Given the description of an element on the screen output the (x, y) to click on. 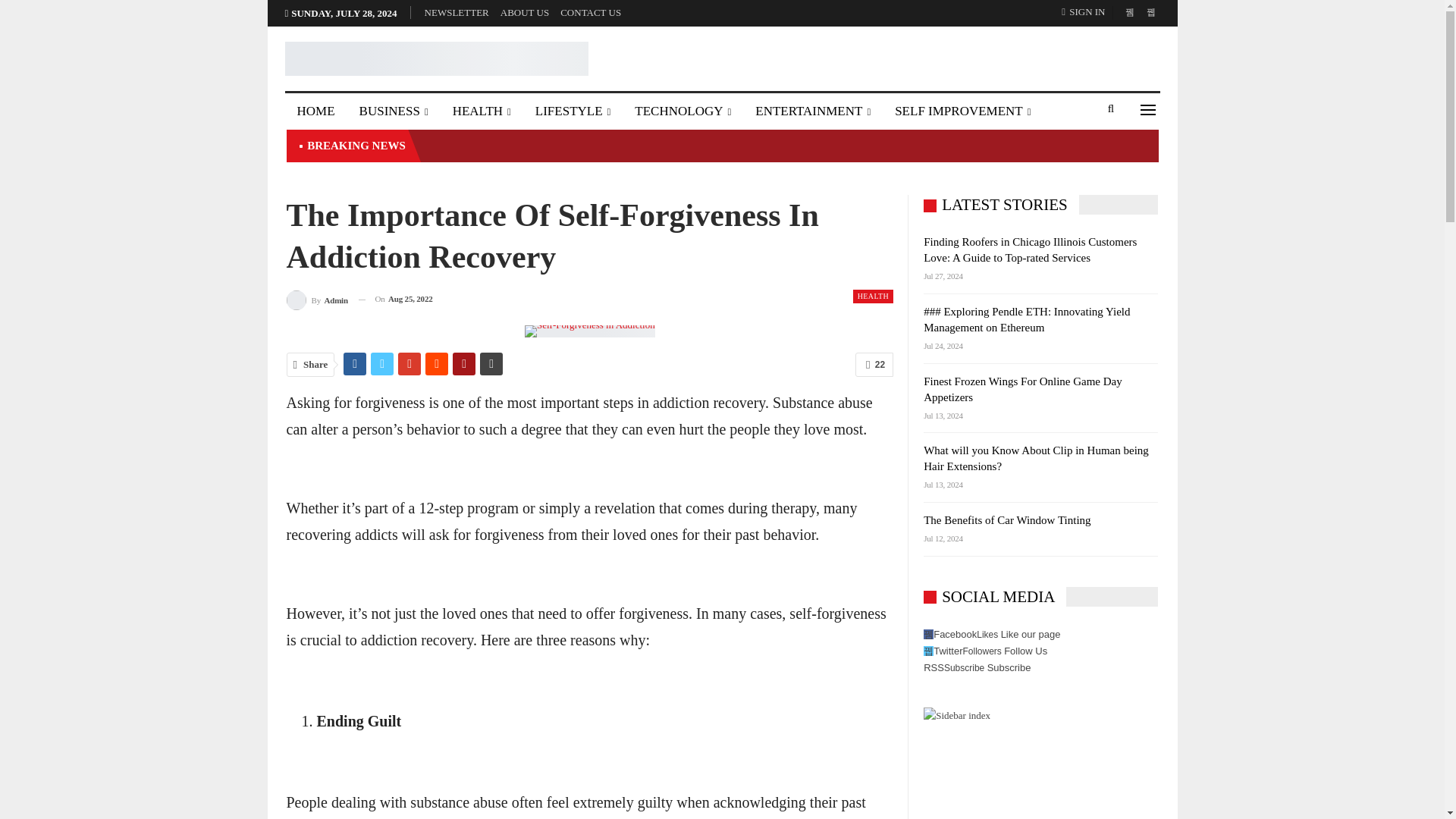
TECHNOLOGY (682, 111)
SIGN IN (1085, 12)
Browse Author Articles (316, 299)
CONTACT US (590, 12)
HOME (316, 111)
ABOUT US (524, 12)
BUSINESS (394, 111)
HEALTH (481, 111)
NEWSLETTER (457, 12)
LIFESTYLE (572, 111)
